Given the description of an element on the screen output the (x, y) to click on. 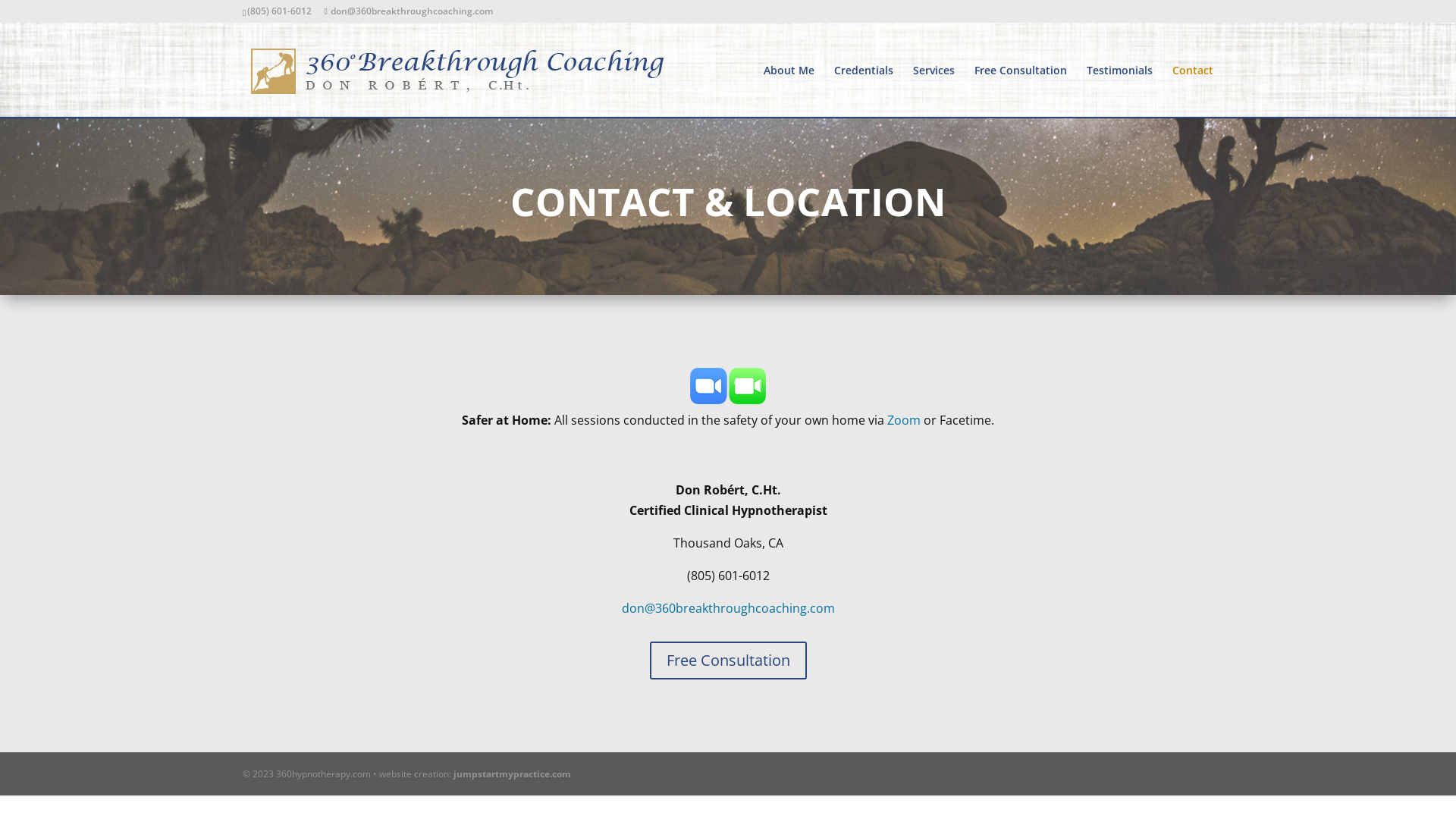
About Me Element type: text (788, 91)
don@360breakthroughcoaching.com Element type: text (727, 607)
Testimonials Element type: text (1119, 91)
Zoom Element type: text (903, 419)
Free Consultation Element type: text (727, 660)
don@360breakthroughcoaching.com Element type: text (407, 10)
Services Element type: text (933, 91)
Free Consultation Element type: text (1020, 91)
Credentials Element type: text (863, 91)
Contact Element type: text (1192, 91)
jumpstartmypractice.com Element type: text (512, 773)
